Given the description of an element on the screen output the (x, y) to click on. 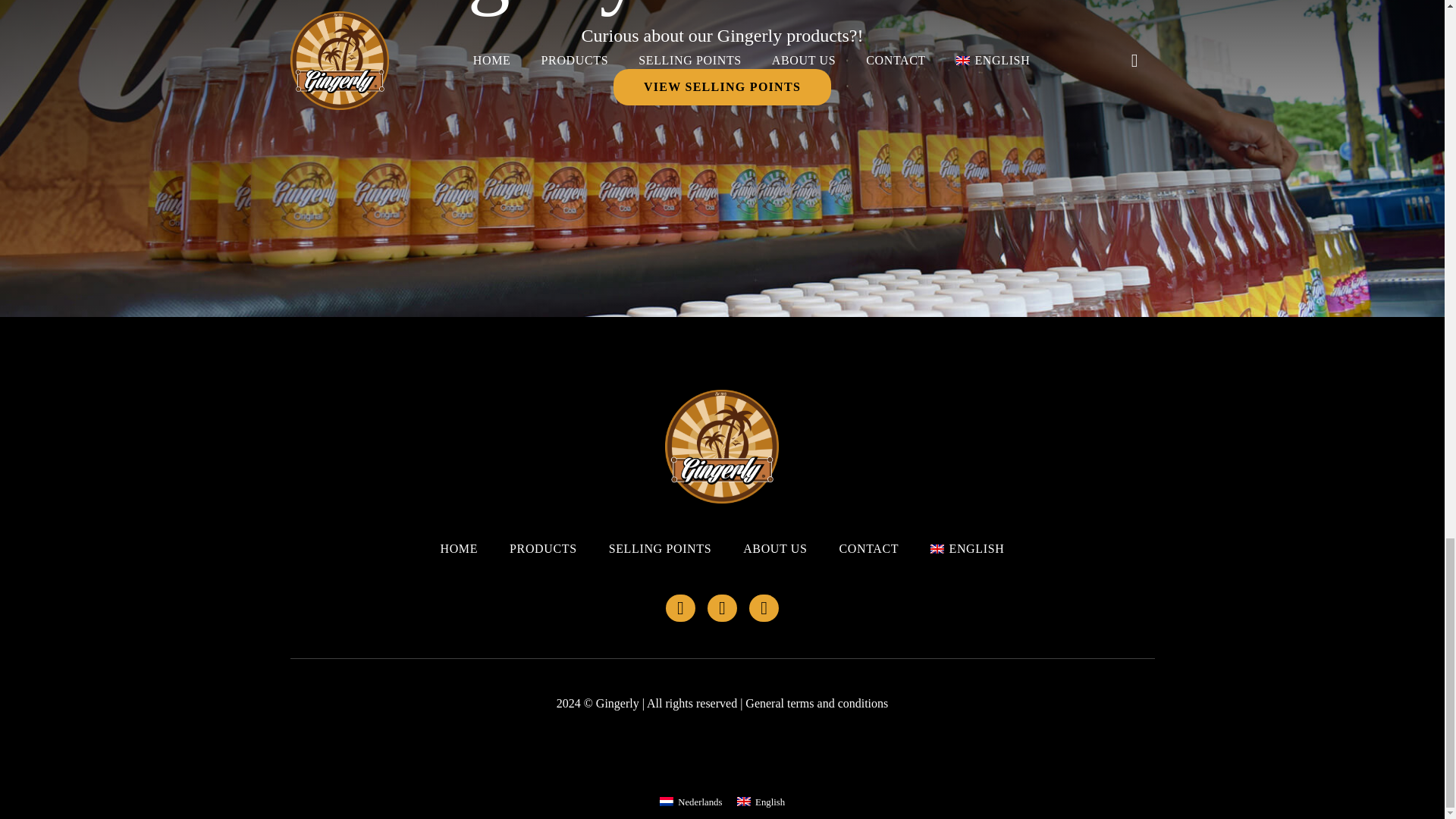
VIEW SELLING POINTS (721, 86)
English (967, 548)
Selling points (721, 86)
General terms and conditions (816, 703)
CONTACT (868, 548)
SELLING POINTS (659, 548)
ENGLISH (967, 548)
ABOUT US (774, 548)
Home (721, 446)
HOME (458, 548)
